Given the description of an element on the screen output the (x, y) to click on. 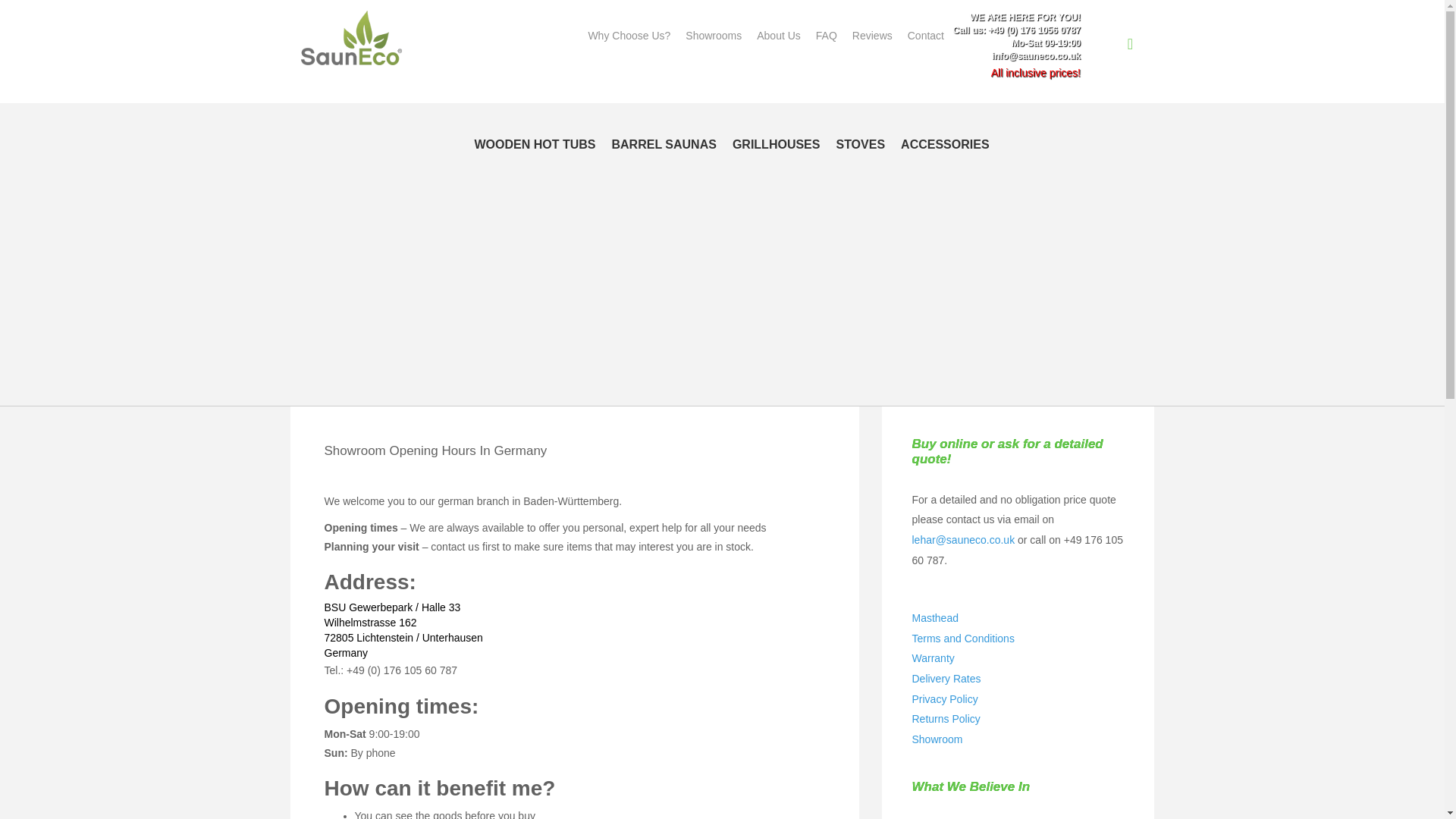
Privacy Policy (943, 698)
BARREL SAUNAS (665, 144)
WOODEN HOT TUBS (536, 144)
Showrooms (713, 36)
0 (1135, 45)
Terms and Conditions (962, 638)
Sauneco (351, 39)
STOVES (861, 144)
View your shopping cart (1135, 45)
Why Choose Us? (628, 36)
GRILLHOUSES (778, 144)
Showroom Opening Hours In Germany (435, 450)
ACCESSORIES (946, 144)
Masthead (934, 617)
Delivery Rates (945, 678)
